Given the description of an element on the screen output the (x, y) to click on. 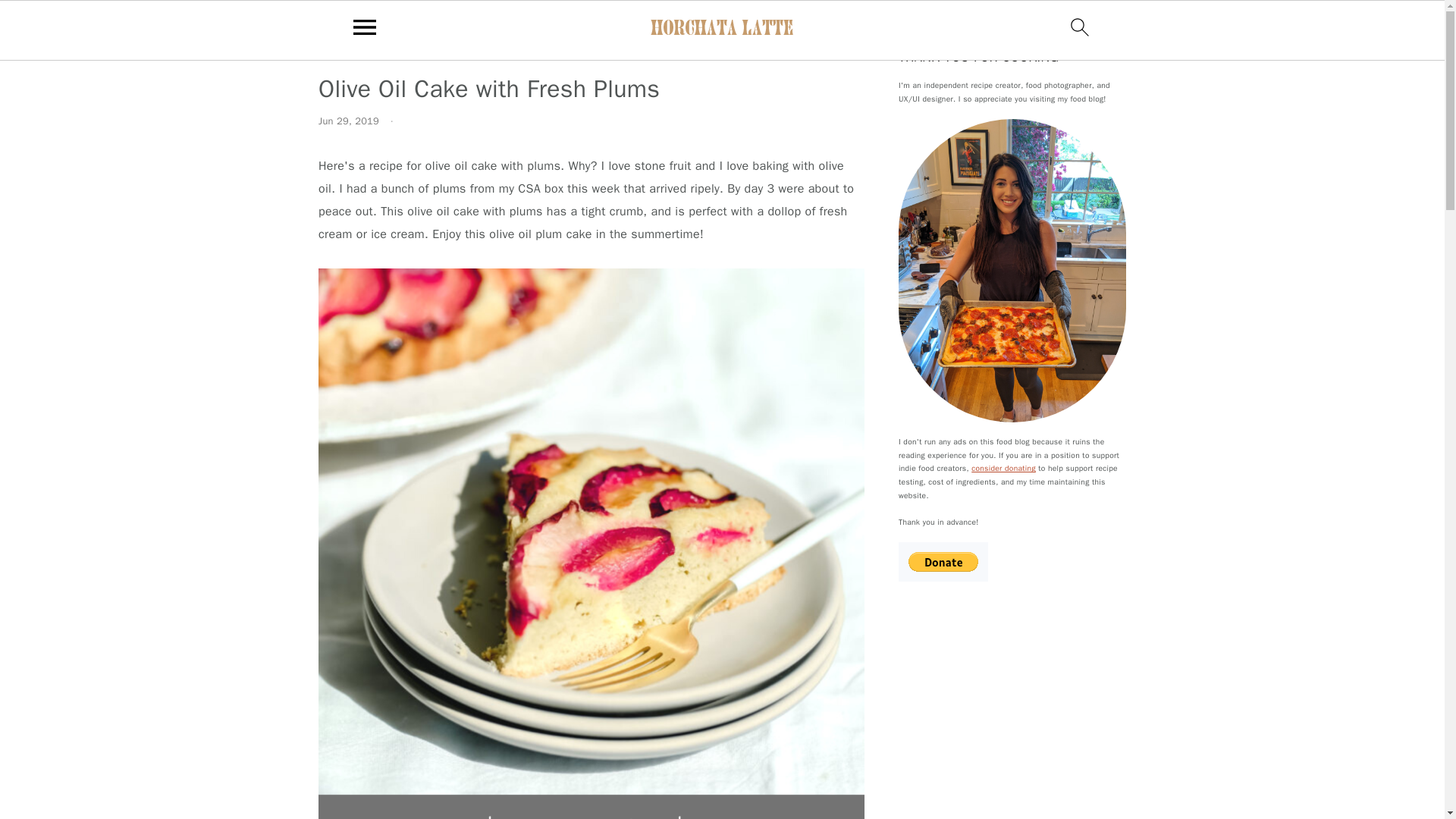
Home (334, 50)
consider donating (1003, 468)
menu icon (365, 26)
sweets (381, 50)
search icon (1080, 26)
PayPal - The safer, easier way to pay online! (943, 561)
